Given the description of an element on the screen output the (x, y) to click on. 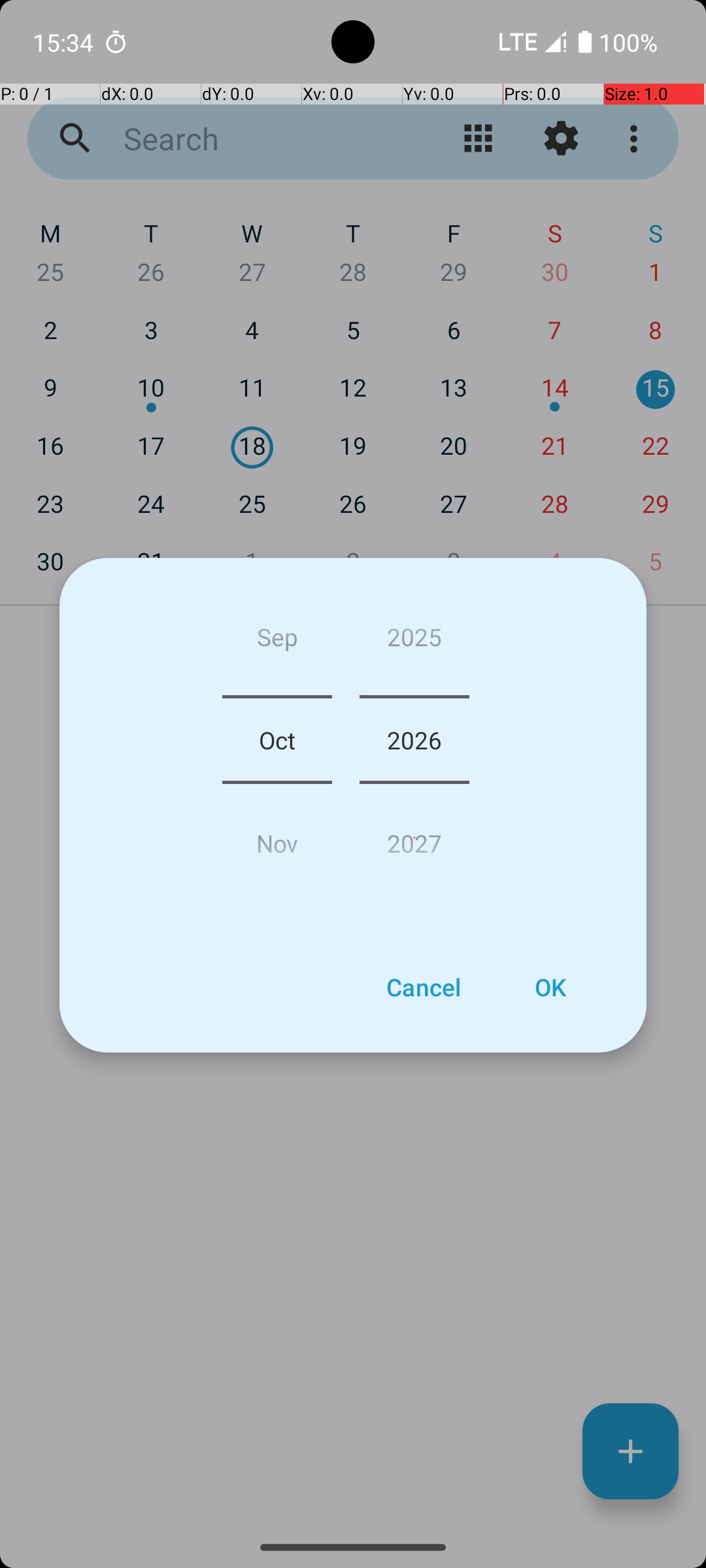
2026 Element type: android.widget.EditText (414, 739)
2027 Element type: android.widget.Button (414, 837)
